Given the description of an element on the screen output the (x, y) to click on. 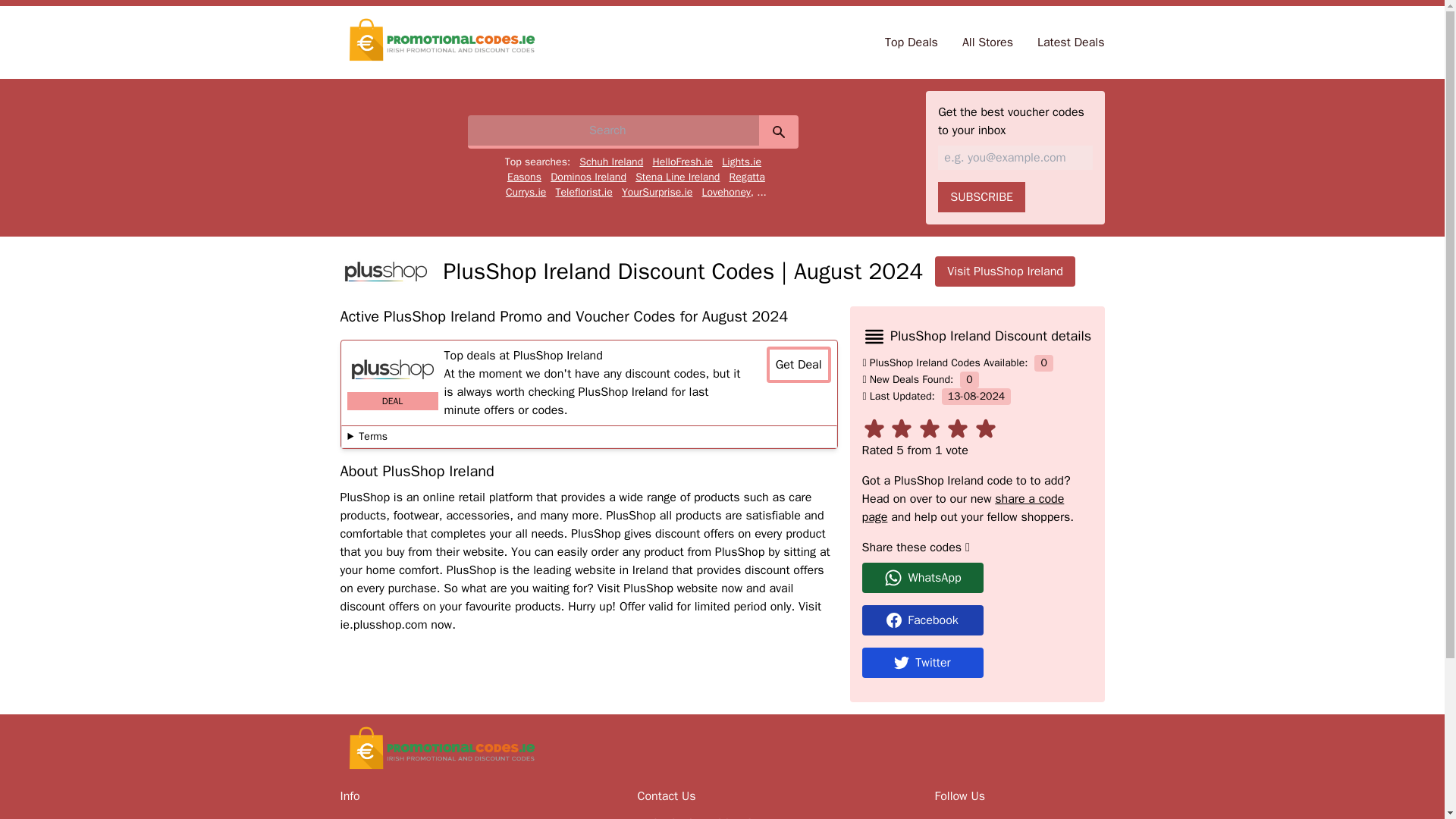
Schuh Ireland (611, 161)
HelloFresh.ie (682, 161)
Subscribe (981, 196)
Teleflorist.ie (584, 192)
Share on Facebook (977, 620)
Lights.ie (741, 161)
Easons (523, 176)
Stena Line Ireland (676, 176)
Regatta (747, 176)
Facebook (977, 620)
